Given the description of an element on the screen output the (x, y) to click on. 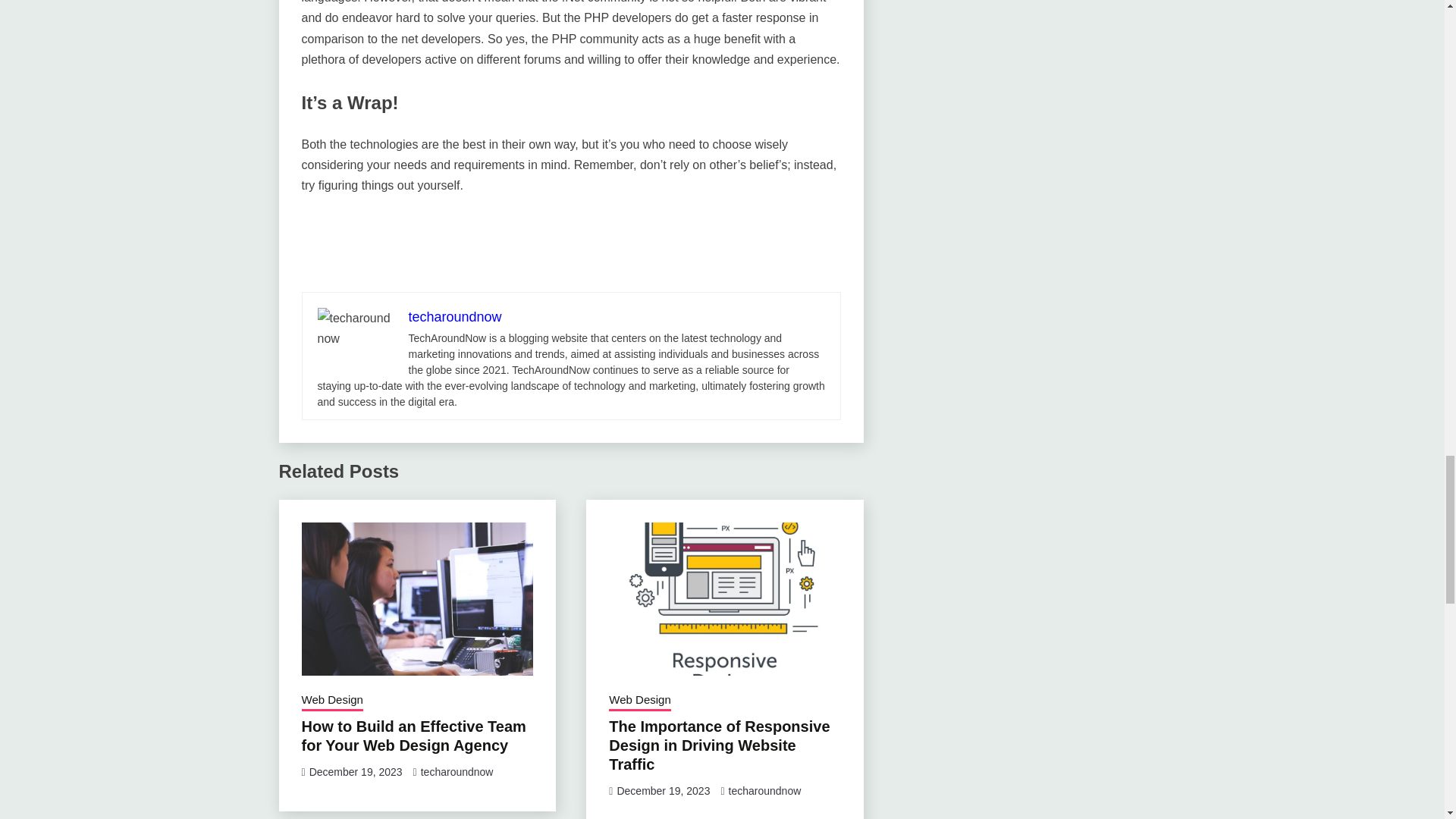
techaroundnow (765, 790)
techaroundnow (456, 771)
Web Design (331, 701)
December 19, 2023 (355, 771)
Web Design (638, 701)
techaroundnow (453, 316)
December 19, 2023 (662, 790)
How to Build an Effective Team for Your Web Design Agency (413, 735)
